Given the description of an element on the screen output the (x, y) to click on. 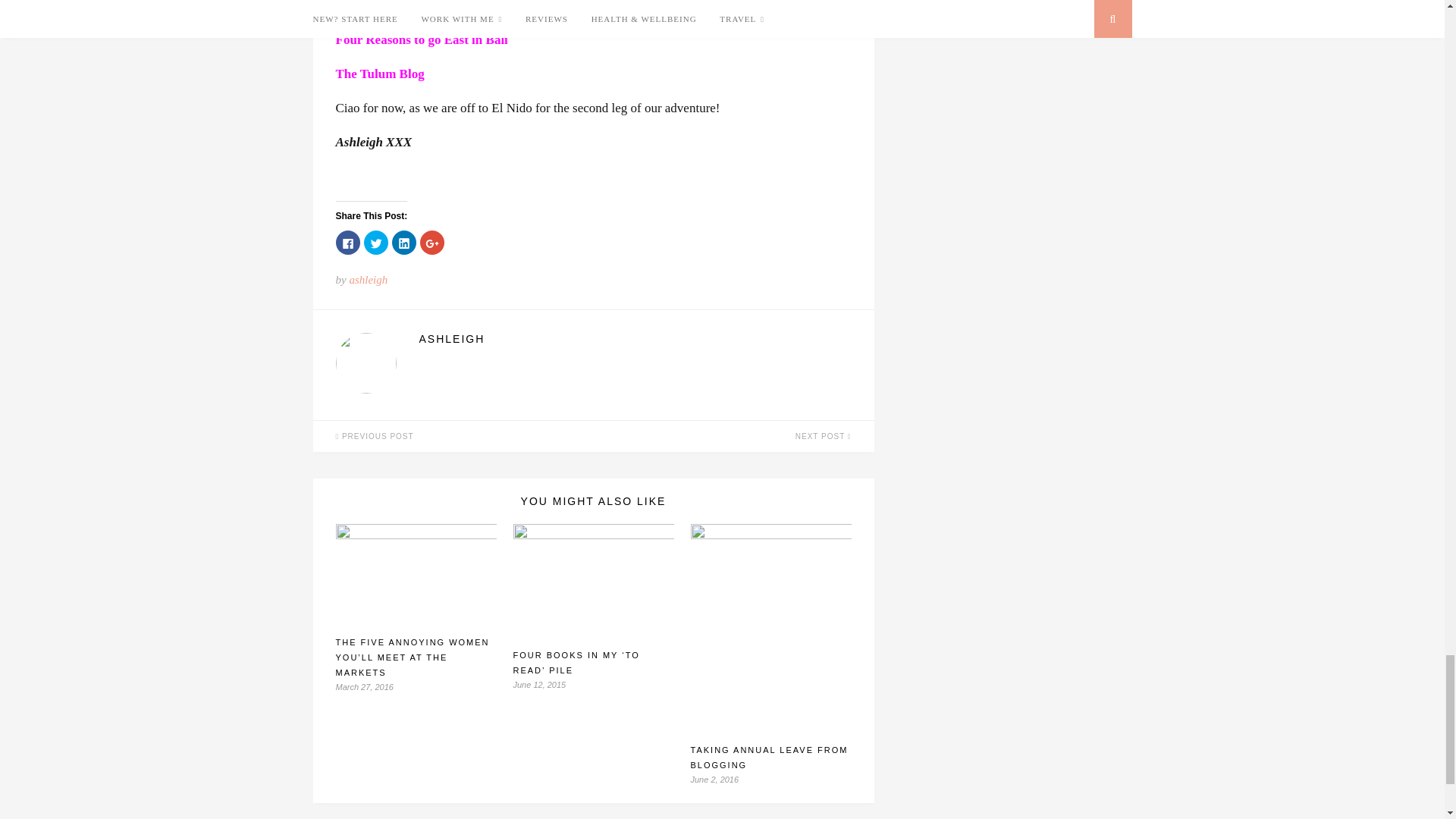
Click to share on Twitter (376, 242)
ashleigh (368, 279)
Four Reasons to go East in Bali (420, 39)
Posts by ashleigh (368, 279)
Click to share on Facebook (346, 242)
The Tulum Blog (378, 73)
Click to share on LinkedIn (402, 242)
ASHLEIGH (634, 338)
Posts by ashleigh (634, 338)
AirAsia Business Review (402, 6)
